Given the description of an element on the screen output the (x, y) to click on. 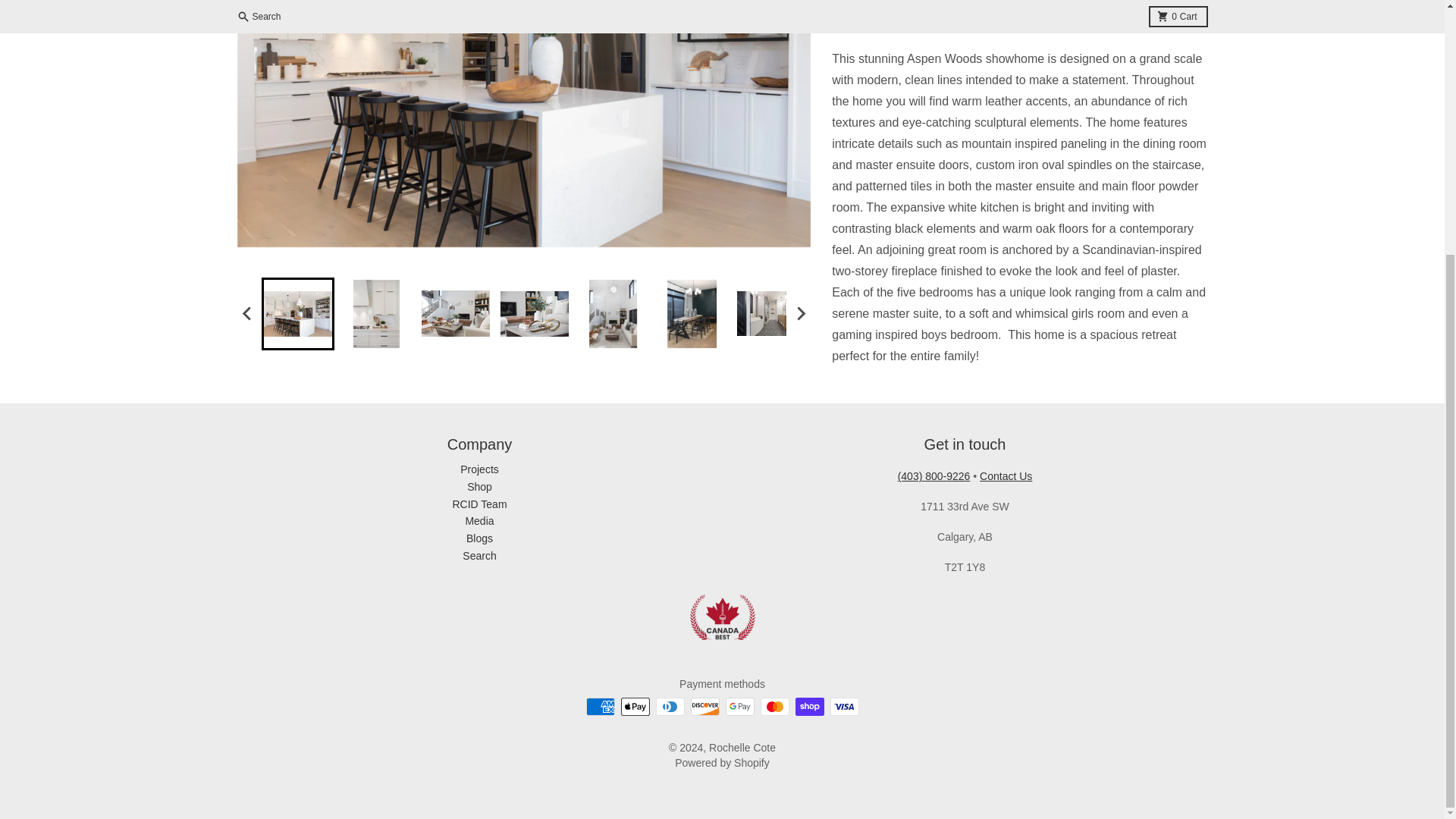
1 (913, 4)
RCID Team (478, 503)
Projects (479, 469)
Search (479, 555)
Media (478, 521)
Decrease quantity for ASPEN 2021 SHOWHOME (864, 4)
Increase quantity for ASPEN 2021 SHOWHOME (963, 4)
Contact Us (1005, 476)
Blogs (479, 538)
Shop (479, 486)
